Given the description of an element on the screen output the (x, y) to click on. 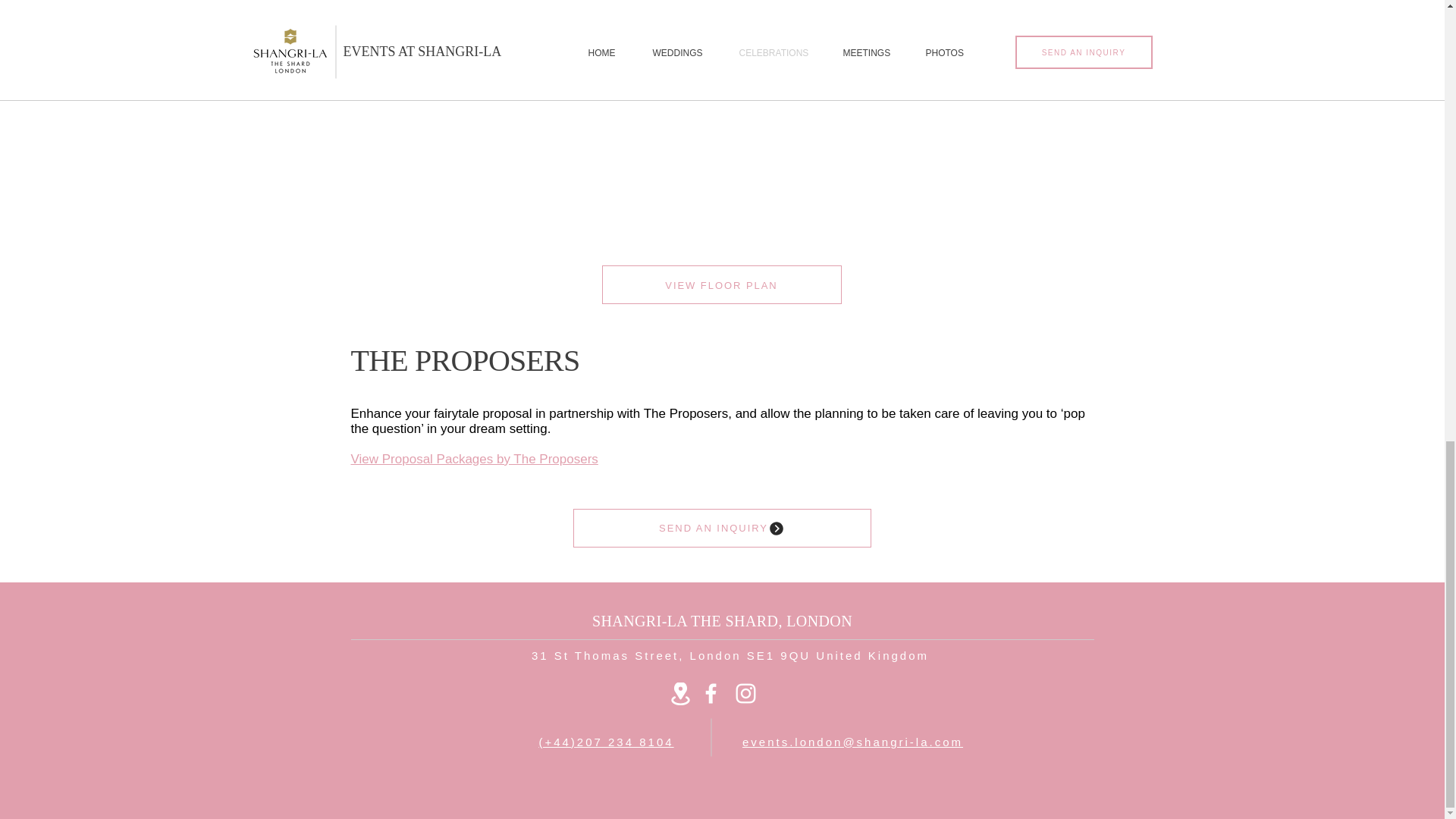
VIEW FLOOR PLAN (721, 284)
SEND AN INQUIRY (721, 527)
View Proposal Packages by The Proposers (473, 459)
